Given the description of an element on the screen output the (x, y) to click on. 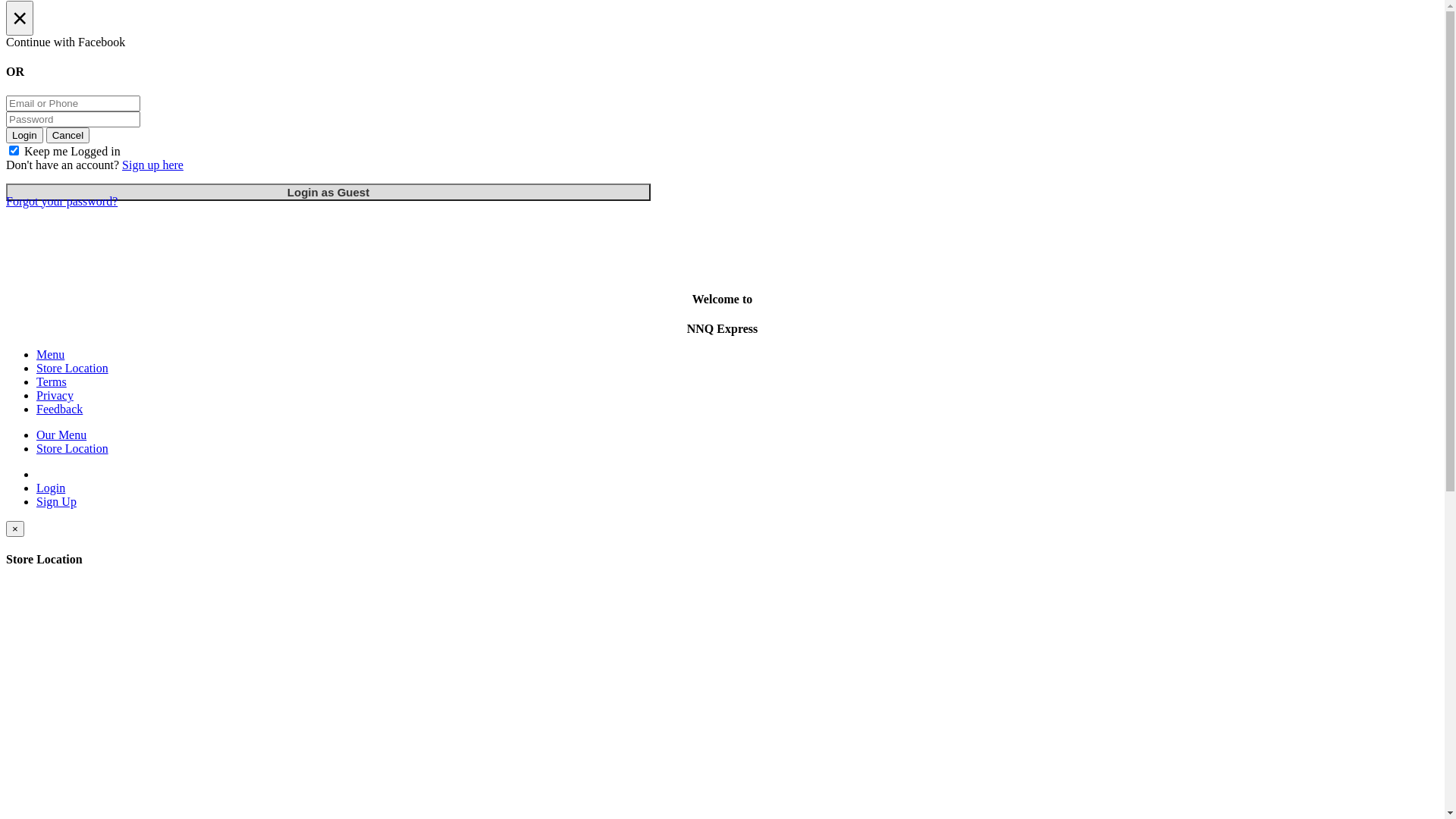
Login Element type: text (24, 135)
Sign Up Element type: text (56, 501)
Store Location Element type: text (72, 448)
Store Location Element type: text (72, 367)
Terms Element type: text (51, 381)
Login Element type: text (50, 487)
Sign up here Element type: text (152, 164)
Privacy Element type: text (54, 395)
Continue with Facebook Element type: text (722, 42)
Forgot your password? Element type: text (61, 200)
Feedback Element type: text (59, 408)
Cancel Element type: text (68, 135)
Our Menu Element type: text (61, 434)
Login as Guest Element type: text (328, 191)
Login as Guest Element type: text (328, 191)
Menu Element type: text (50, 354)
